Given the description of an element on the screen output the (x, y) to click on. 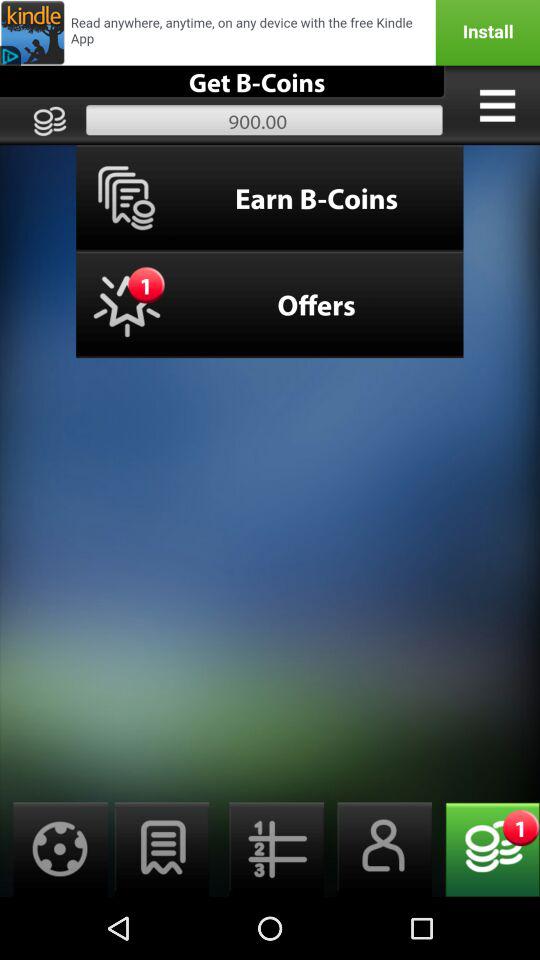
menu option (497, 105)
